Given the description of an element on the screen output the (x, y) to click on. 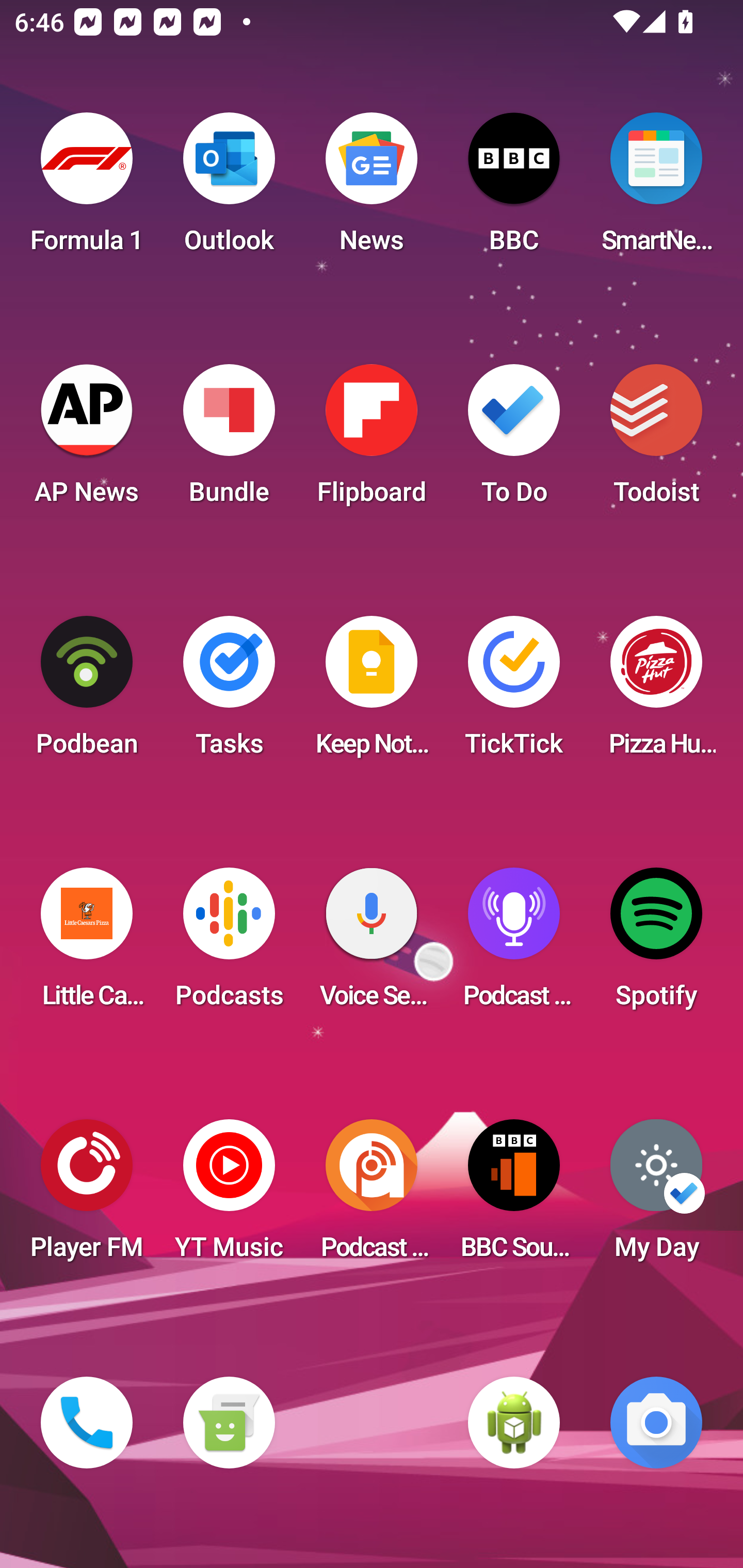
Formula 1 (86, 188)
Outlook (228, 188)
News (371, 188)
BBC (513, 188)
SmartNews (656, 188)
AP News (86, 440)
Bundle (228, 440)
Flipboard (371, 440)
To Do (513, 440)
Todoist (656, 440)
Podbean (86, 692)
Tasks (228, 692)
Keep Notes (371, 692)
TickTick (513, 692)
Pizza Hut HK & Macau (656, 692)
Little Caesars Pizza (86, 943)
Podcasts (228, 943)
Voice Search (371, 943)
Podcast Player (513, 943)
Spotify (656, 943)
Player FM (86, 1195)
YT Music (228, 1195)
Podcast Addict (371, 1195)
BBC Sounds (513, 1195)
My Day (656, 1195)
Phone (86, 1422)
Messaging (228, 1422)
WebView Browser Tester (513, 1422)
Camera (656, 1422)
